Given the description of an element on the screen output the (x, y) to click on. 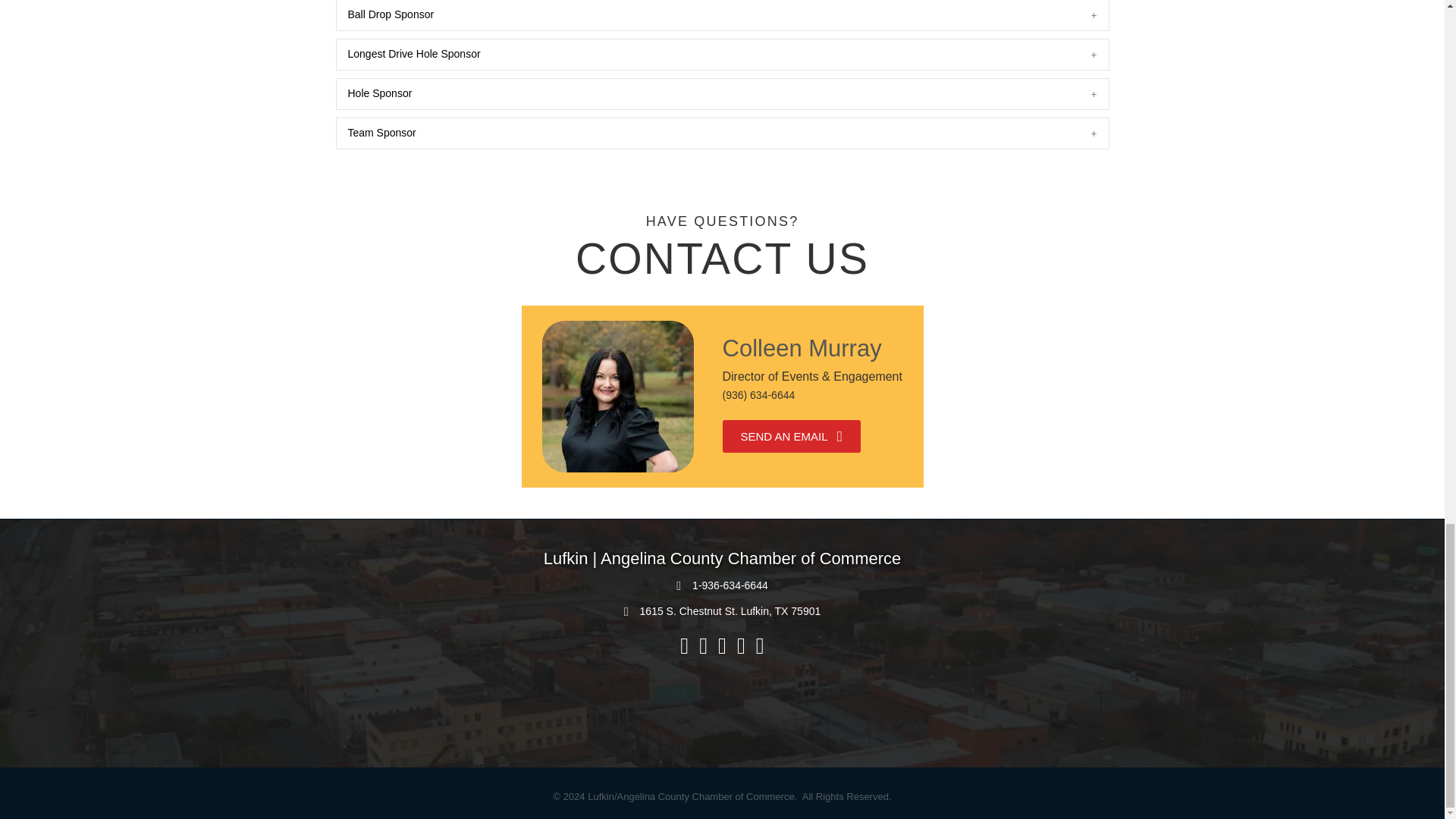
Colleen (617, 396)
